Given the description of an element on the screen output the (x, y) to click on. 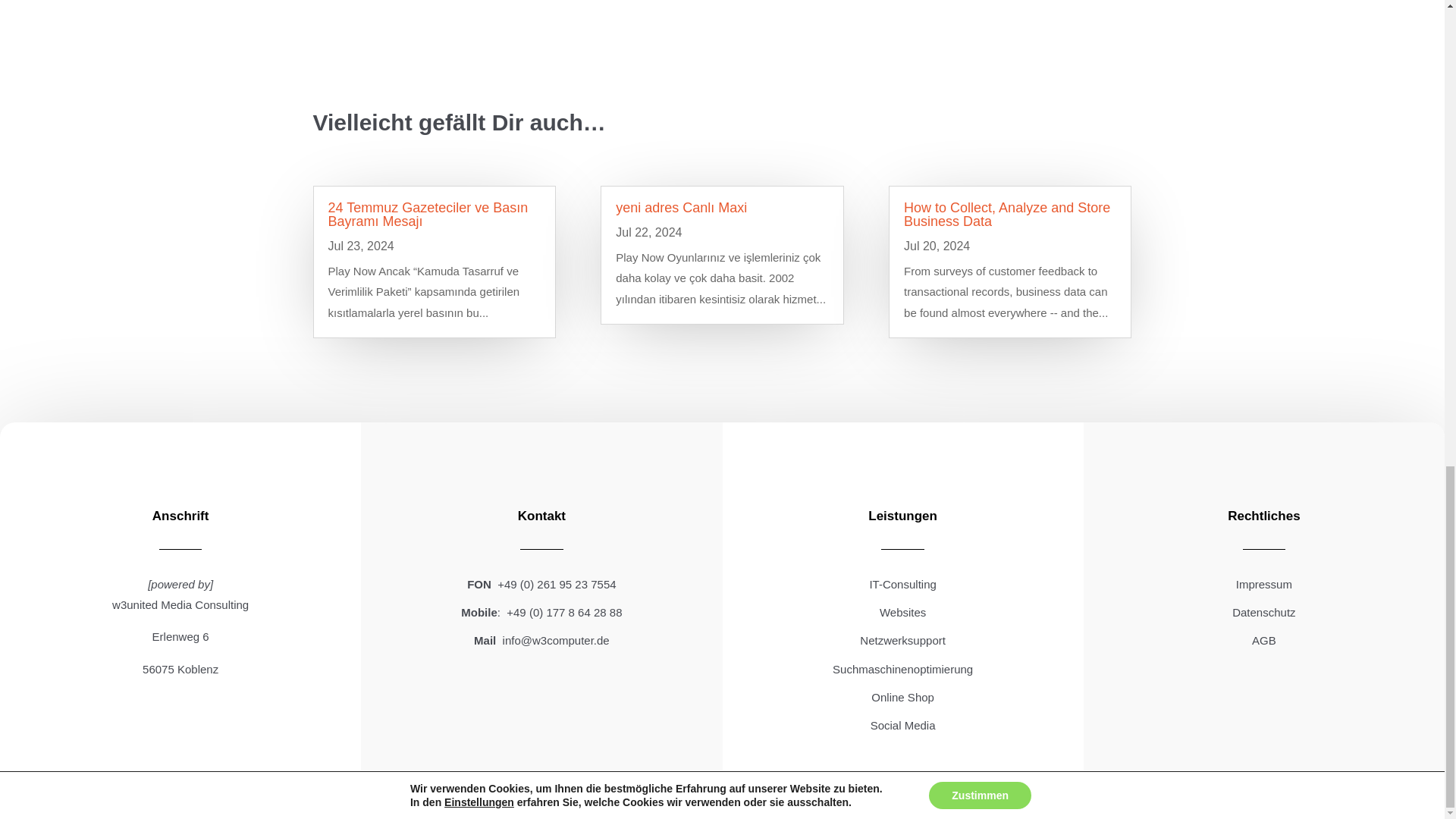
IT Beratung Koblenz (902, 584)
Webdesign Typo3 (902, 612)
Netzwerksupport (902, 640)
